Given the description of an element on the screen output the (x, y) to click on. 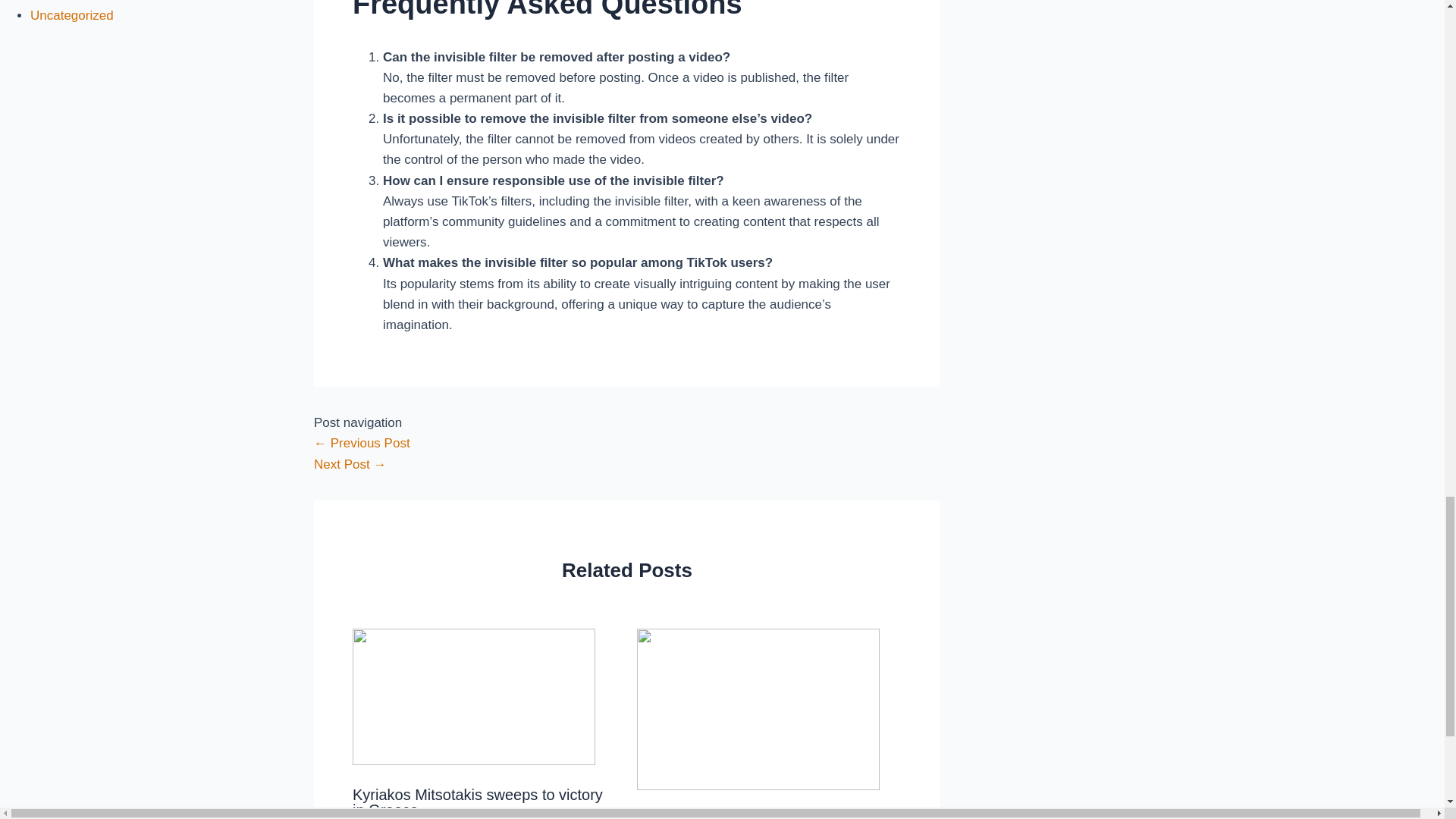
Kyriakos Mitsotakis sweeps to victory in Greece (477, 802)
Uncategorized (71, 15)
